Given the description of an element on the screen output the (x, y) to click on. 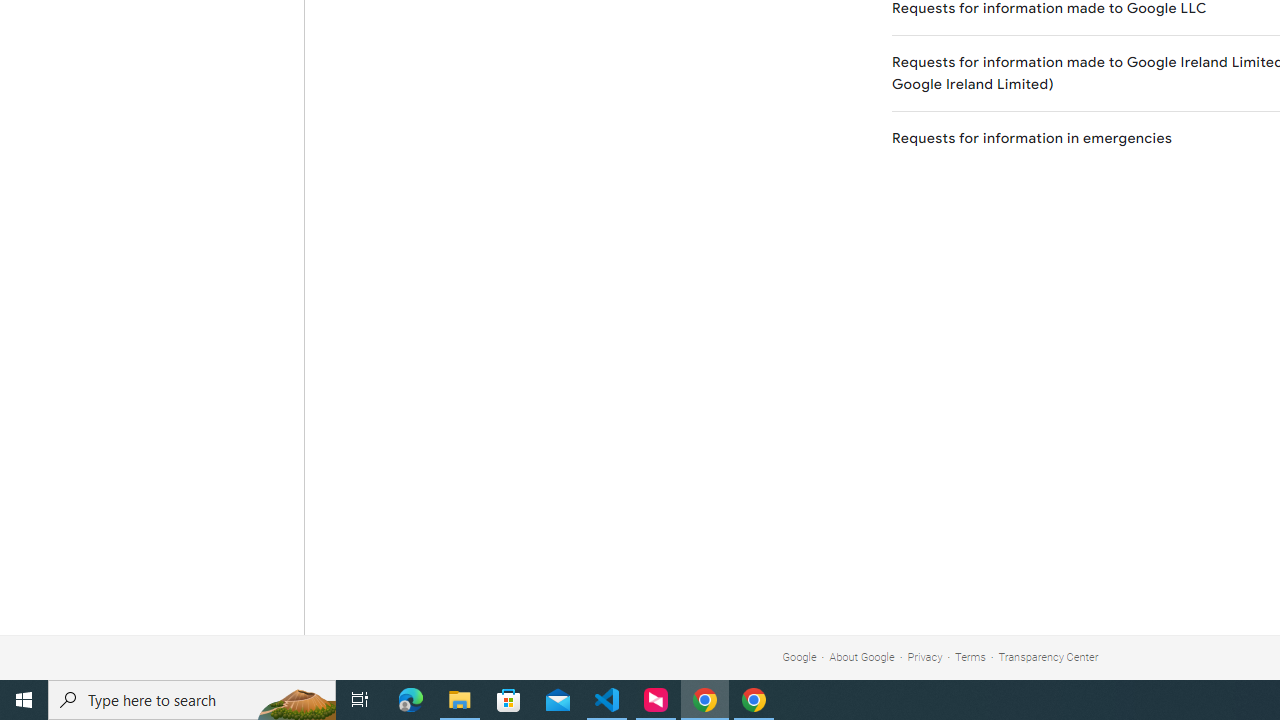
About Google (861, 656)
Transparency Center (1048, 656)
